Given the description of an element on the screen output the (x, y) to click on. 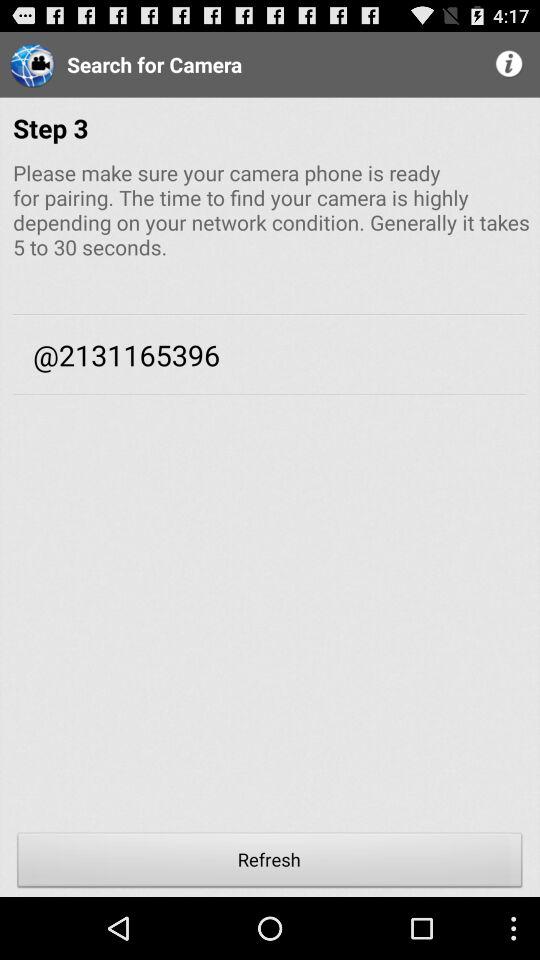
options (509, 63)
